Given the description of an element on the screen output the (x, y) to click on. 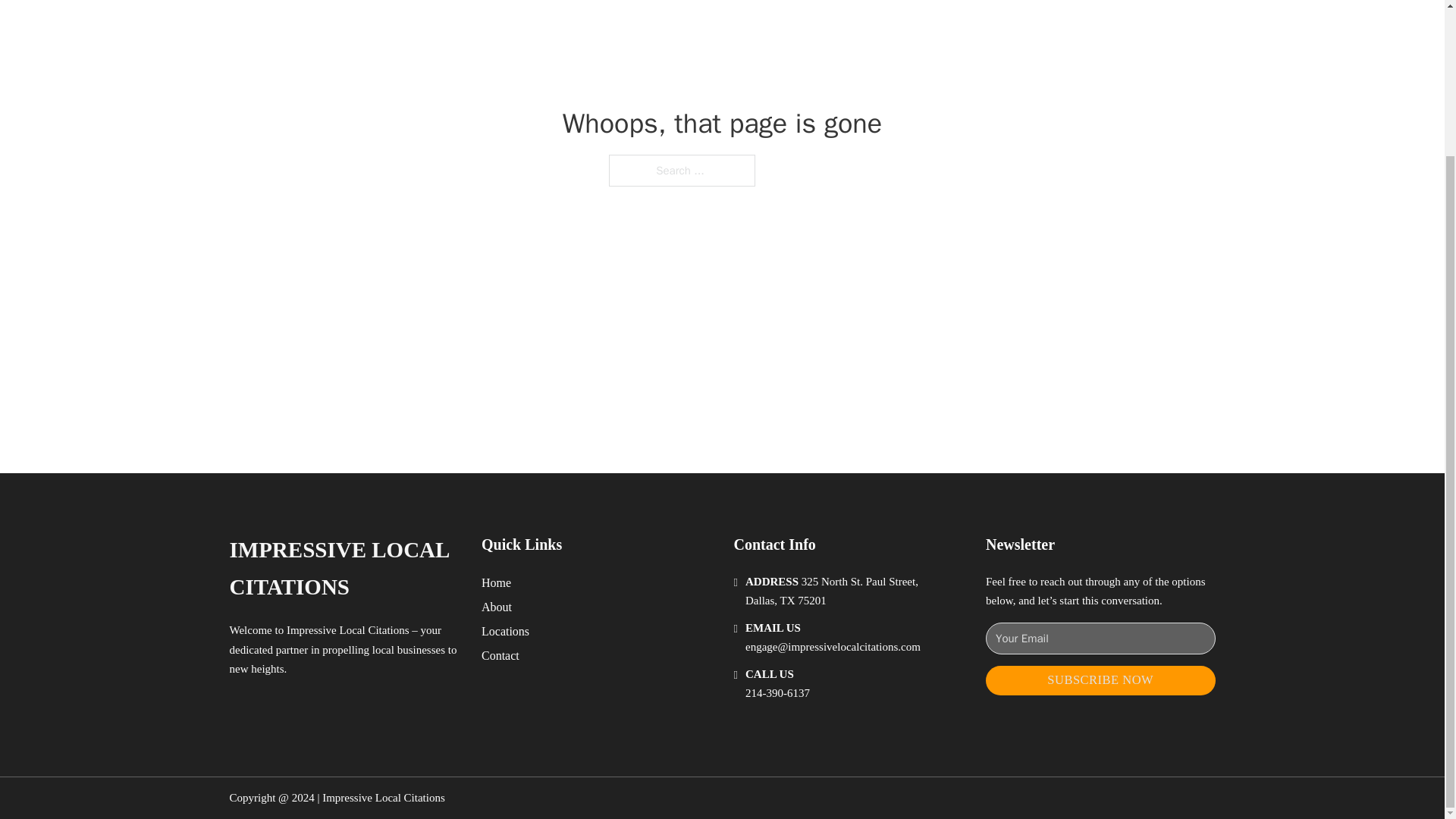
IMPRESSIVE LOCAL CITATIONS (343, 568)
Home (496, 582)
Locations (505, 630)
214-390-6137 (777, 693)
About (496, 607)
SUBSCRIBE NOW (1100, 680)
Contact (500, 655)
